Given the description of an element on the screen output the (x, y) to click on. 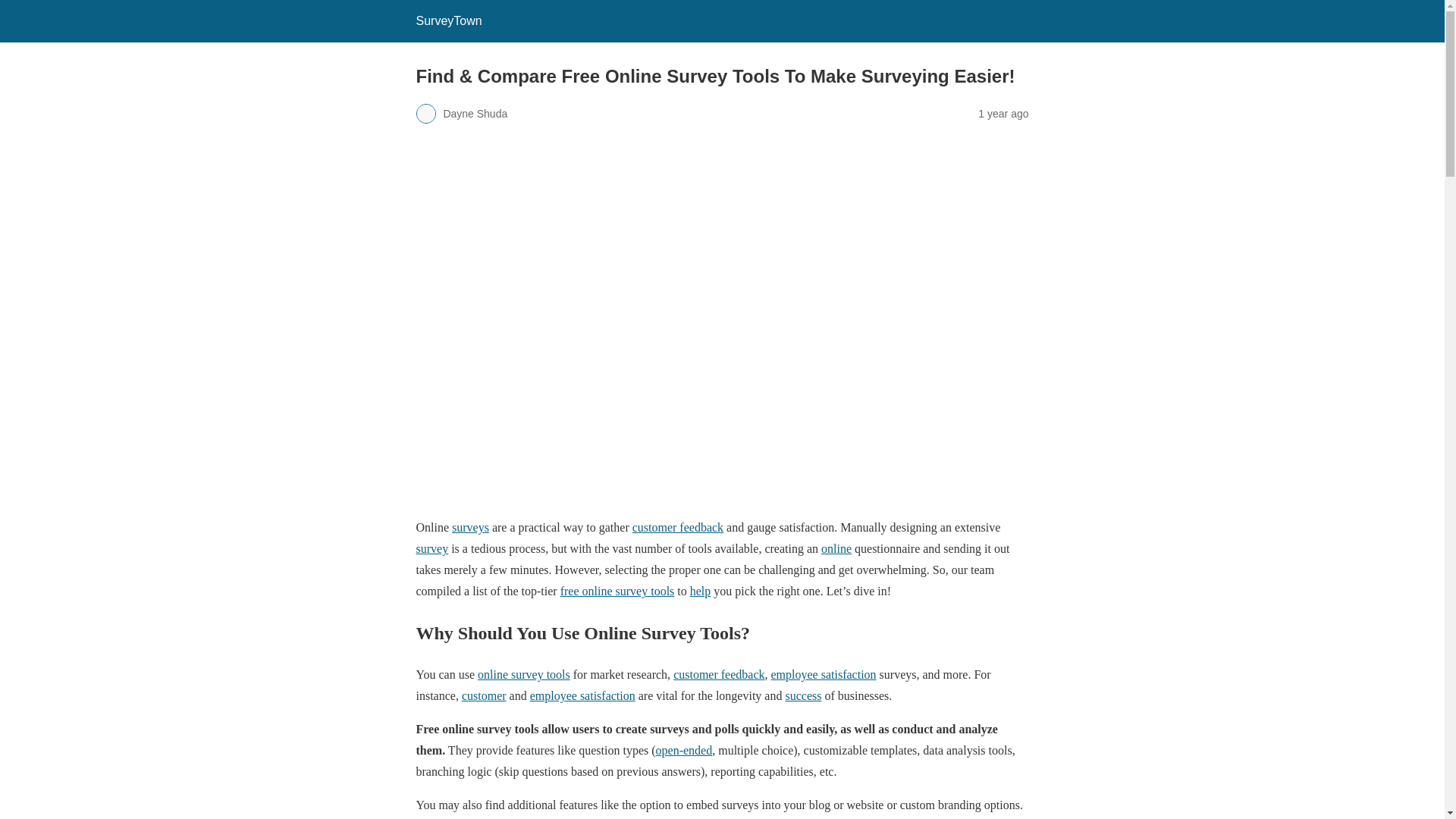
Tag - Surveys (470, 526)
employee satisfaction (581, 695)
customer feedback (677, 526)
survey (431, 548)
Tag - Employee Satisfaction (823, 674)
Tag - Customer (483, 695)
free online survey tools (617, 590)
help (700, 590)
Pricing (836, 548)
SurveyTown (447, 20)
online (836, 548)
surveys (470, 526)
open-ended (684, 749)
success (802, 695)
